Given the description of an element on the screen output the (x, y) to click on. 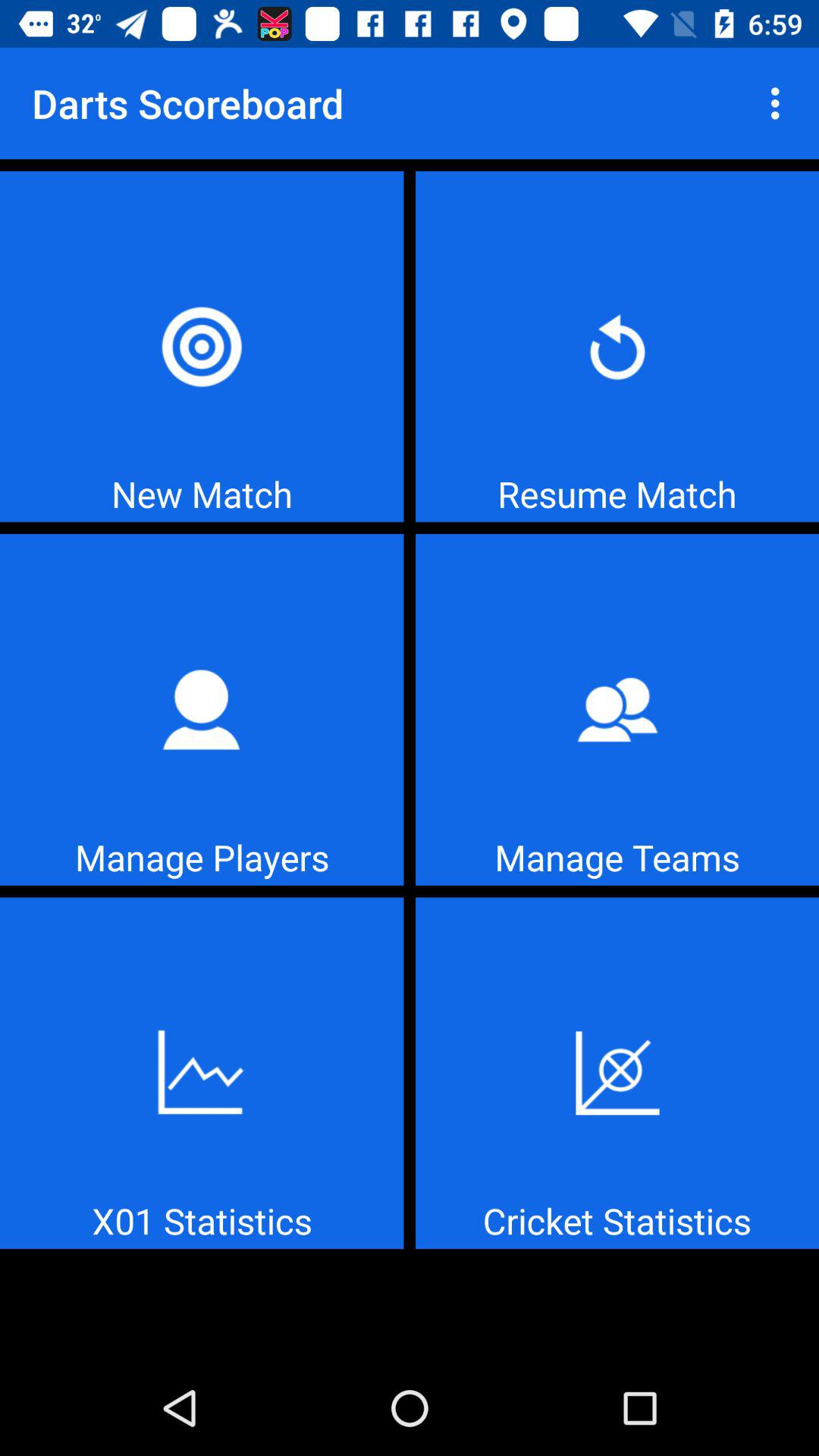
back a match (617, 346)
